Given the description of an element on the screen output the (x, y) to click on. 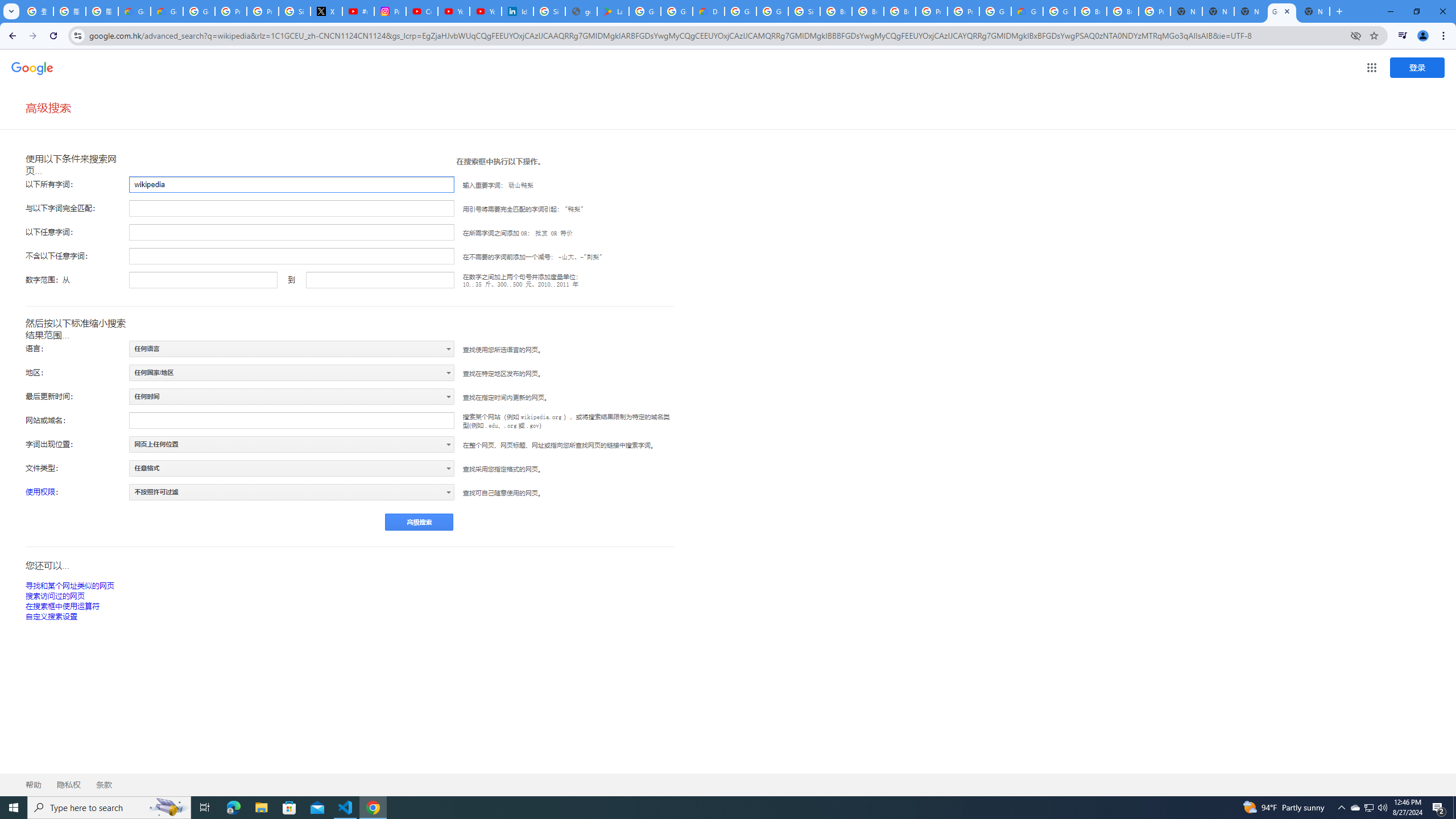
Google Workspace - Specific Terms (676, 11)
Sign in - Google Accounts (294, 11)
google_privacy_policy_en.pdf (581, 11)
Browse Chrome as a guest - Computer - Google Chrome Help (868, 11)
Google Cloud Privacy Notice (166, 11)
